Given the description of an element on the screen output the (x, y) to click on. 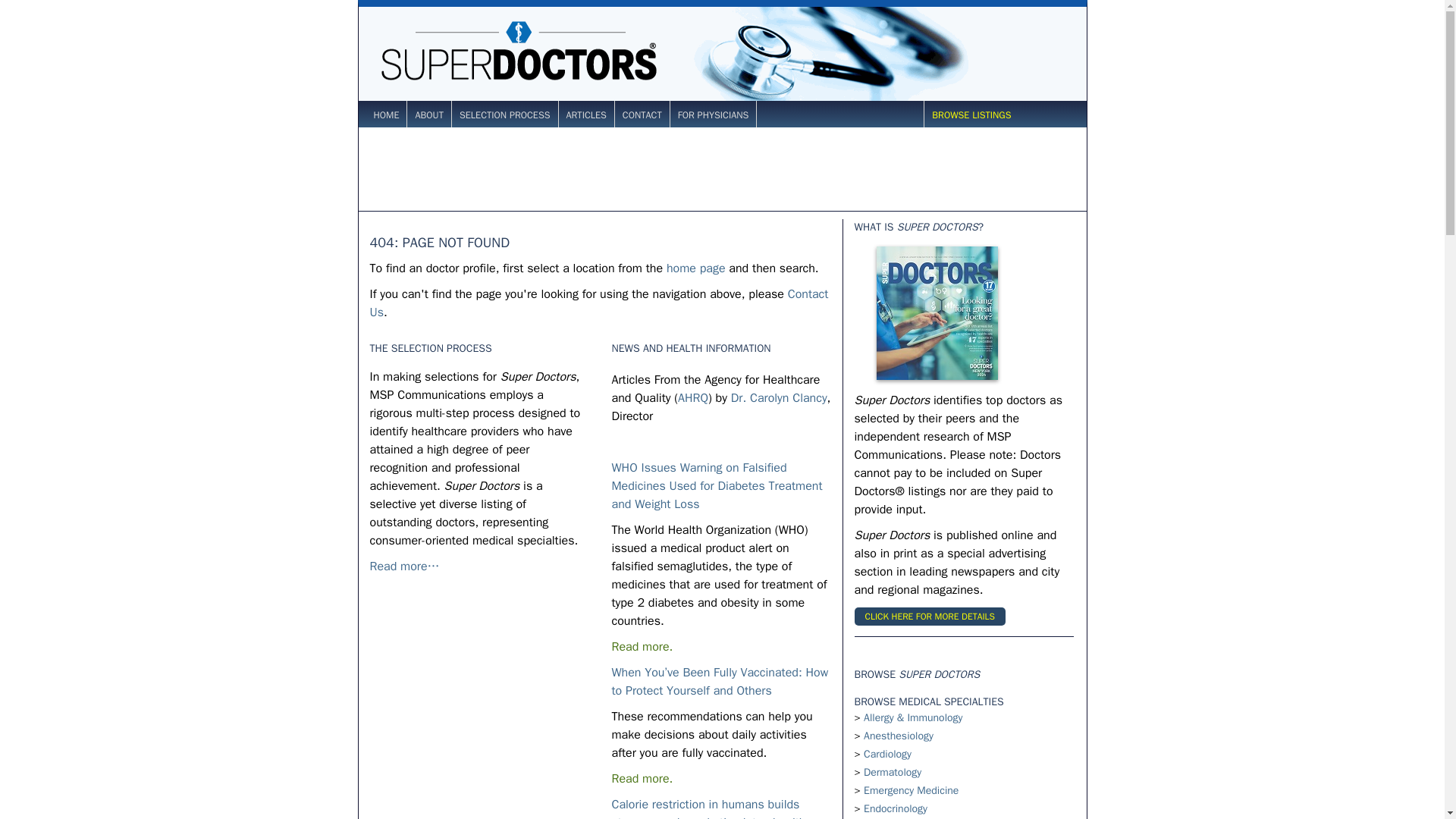
home page (695, 268)
Contact Us (598, 303)
ABOUT (429, 114)
Emergency Medicine (910, 789)
Read more. (641, 646)
CONTACT (642, 114)
Anesthesiology (898, 735)
Cardiology (887, 753)
Dermatology (892, 771)
